Given the description of an element on the screen output the (x, y) to click on. 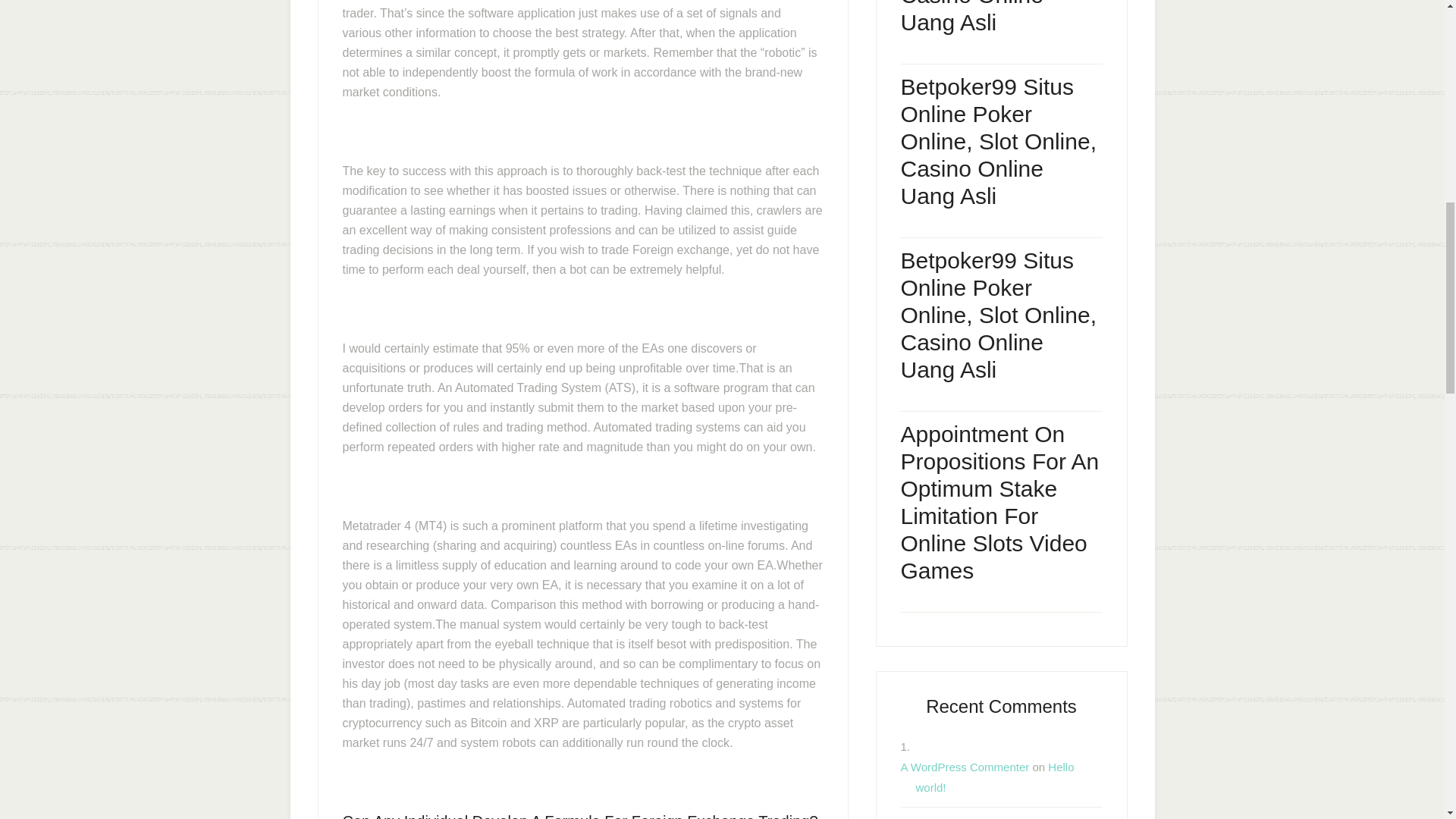
A WordPress Commenter (965, 766)
Hello world! (994, 776)
